Given the description of an element on the screen output the (x, y) to click on. 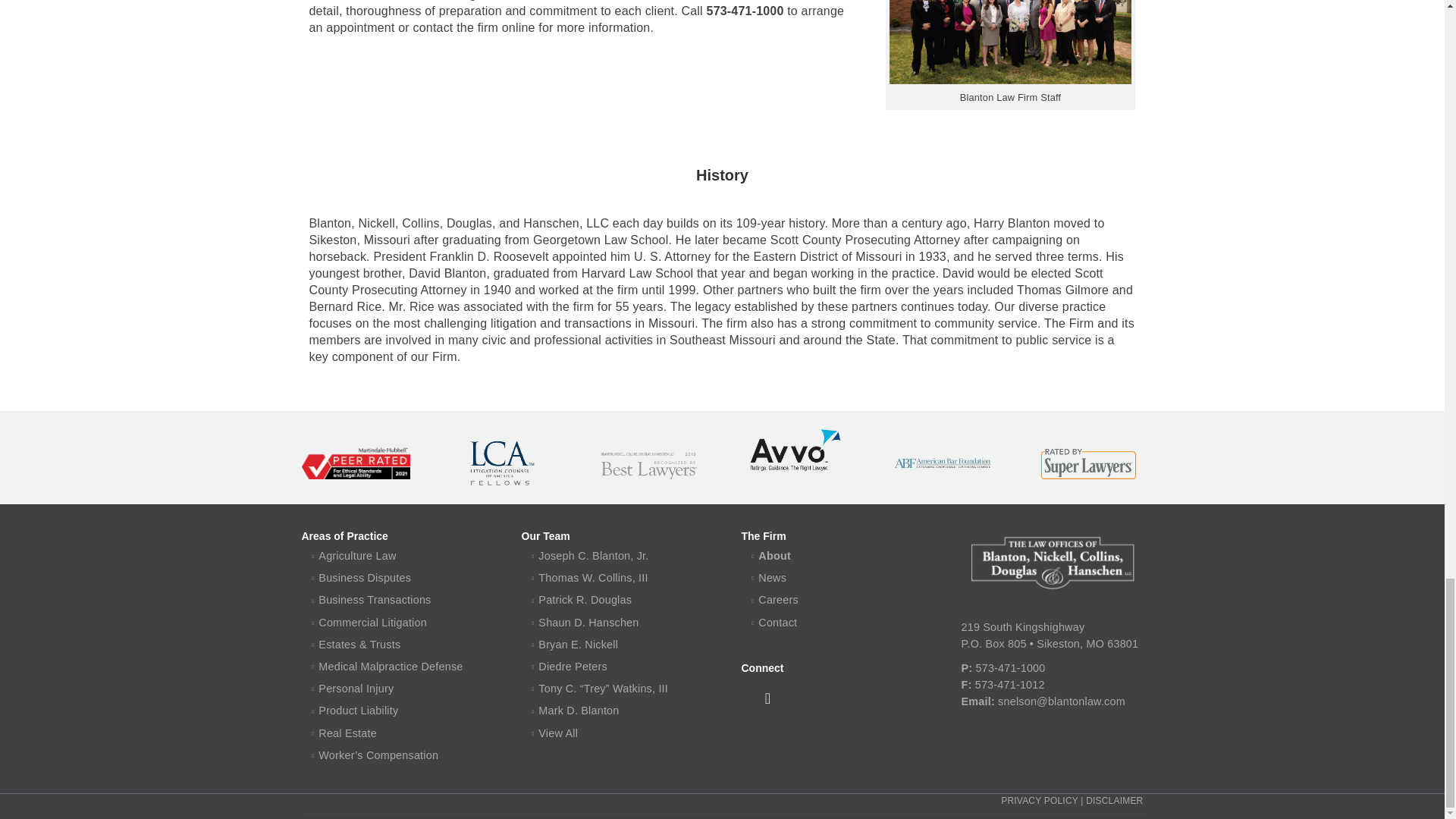
FIRM-PEER-RATED-WH-300 (355, 463)
Commercial Litigation (372, 622)
Blanton Law Firm Staff (1009, 42)
Agriculture Law (357, 555)
Business Disputes (364, 577)
Business Transactions (374, 599)
